Given the description of an element on the screen output the (x, y) to click on. 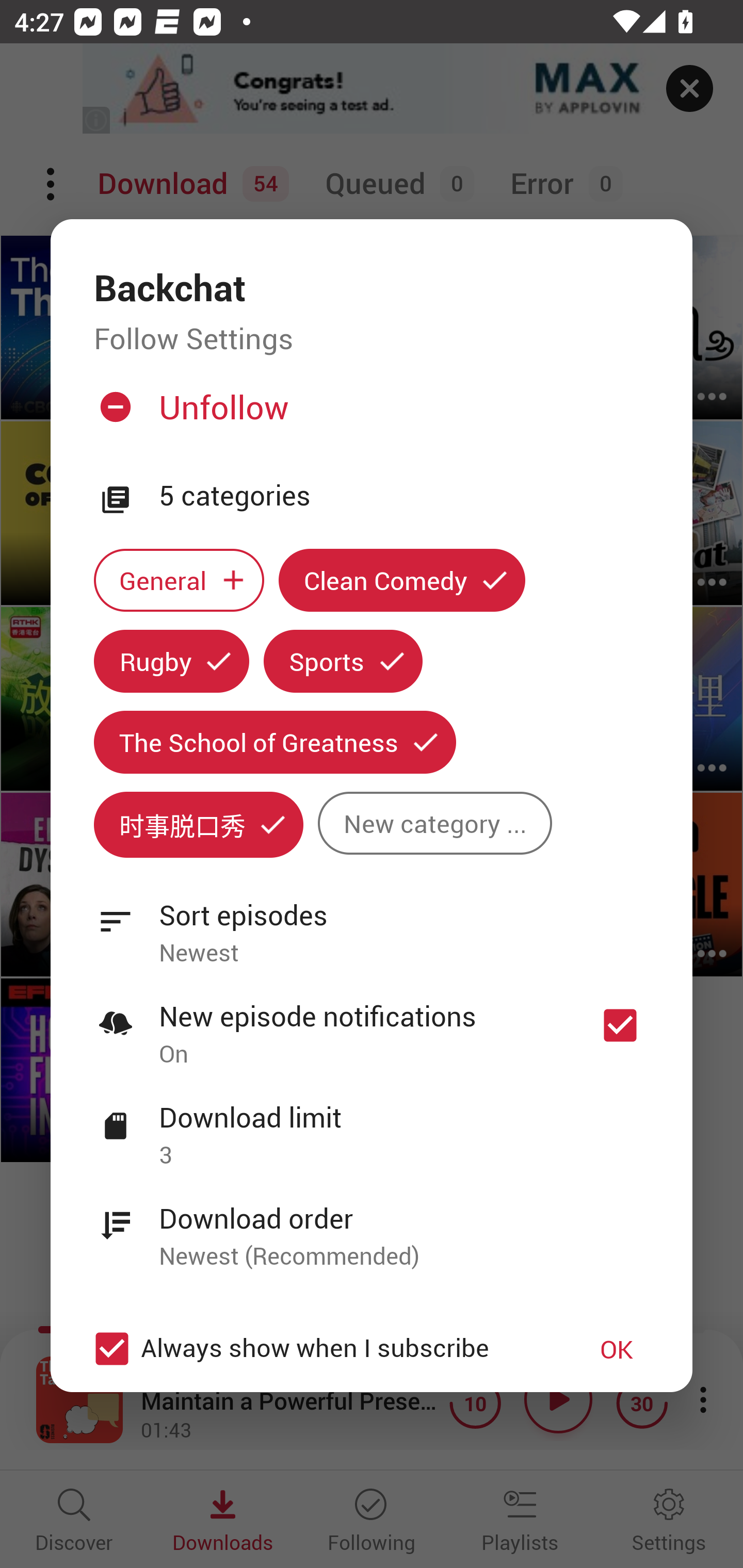
Unfollow (369, 415)
5 categories (404, 495)
General (178, 579)
Clean Comedy (401, 579)
Rugby (170, 661)
Sports (342, 661)
The School of Greatness (274, 741)
时事脱口秀 (198, 824)
New category ... (435, 822)
Sort episodes Newest (371, 922)
New episode notifications (620, 1025)
Download limit 3 (371, 1125)
Download order Newest (Recommended) (371, 1226)
OK (616, 1349)
Always show when I subscribe (320, 1349)
